Given the description of an element on the screen output the (x, y) to click on. 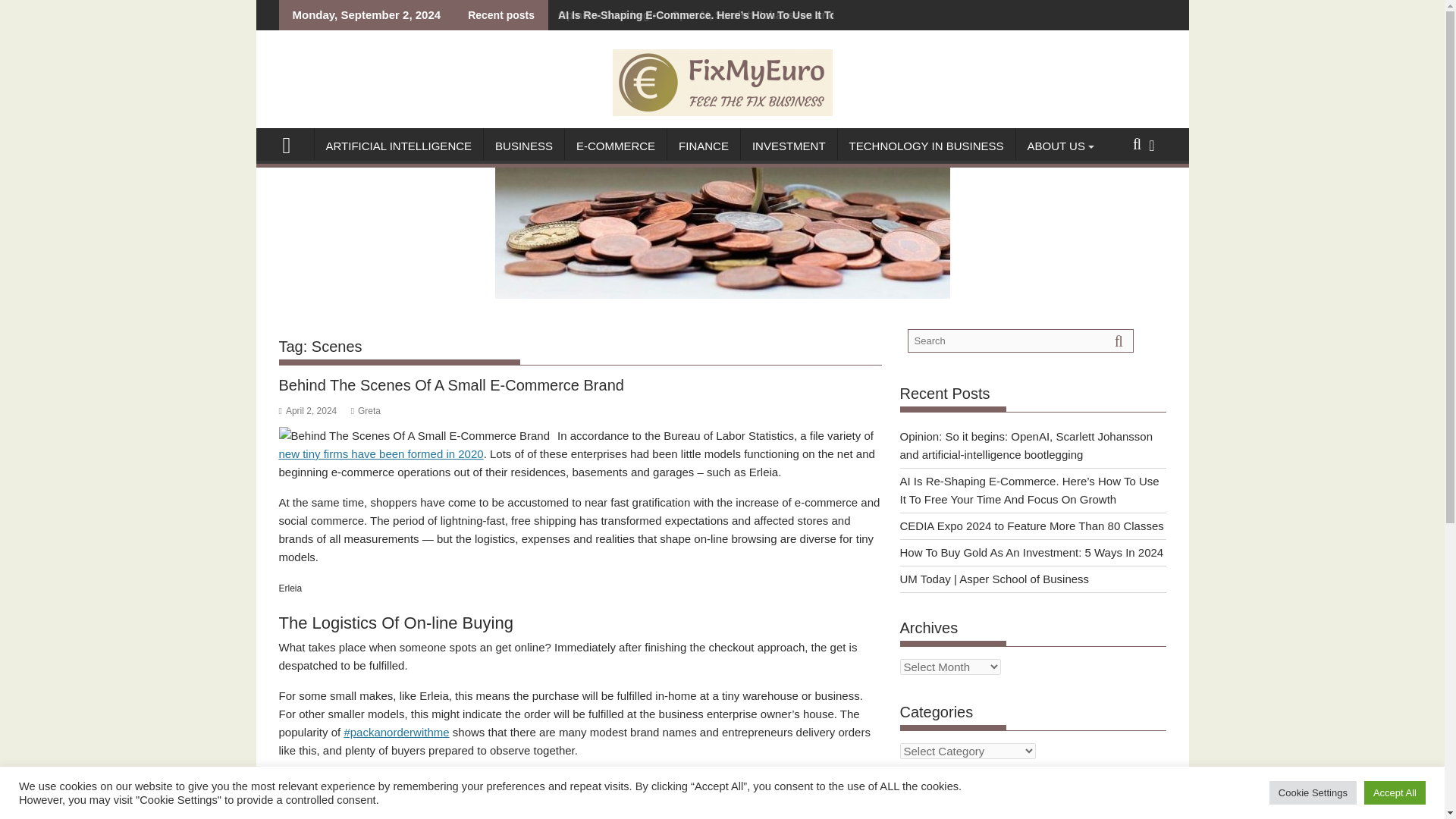
FINANCE (702, 145)
Behind The Scenes Of A Small E-Commerce Brand (451, 384)
INVESTMENT (789, 145)
Behind The Scenes Of A Small E-Commerce Brand (414, 435)
Behind The Scenes Of A Small E-Commerce Brand (414, 435)
FixMyEuro (293, 143)
ABOUT US (1056, 145)
E-COMMERCE (615, 145)
FixMyEuro (722, 294)
